Given the description of an element on the screen output the (x, y) to click on. 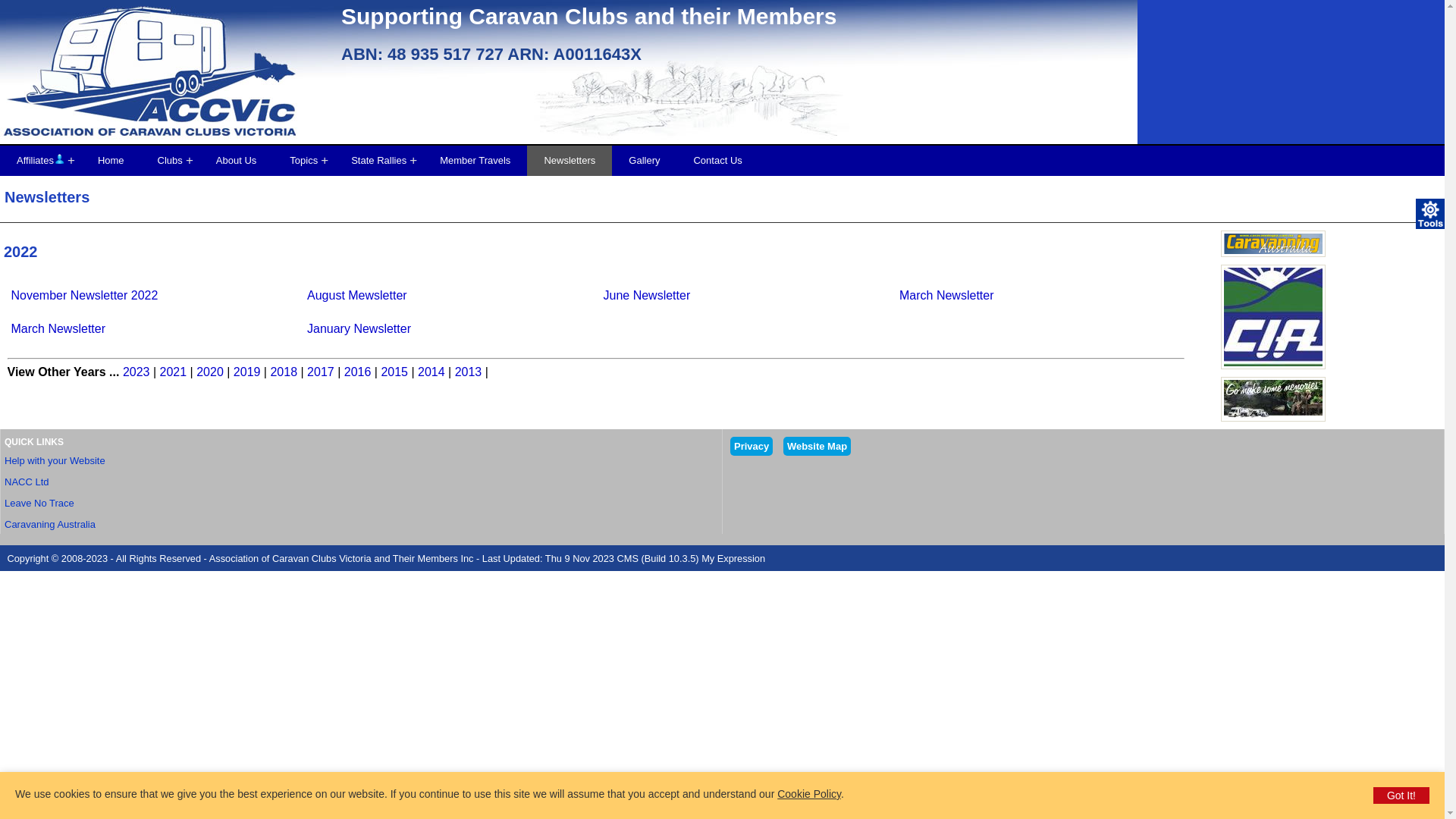
Help with your Website Element type: text (54, 460)
March Newsletter Element type: text (946, 294)
Caravanning Australia Element type: hover (1272, 243)
About Us Element type: text (236, 160)
June Newsletter Element type: text (646, 294)
Cookie Policy Element type: text (808, 793)
Website Map Element type: text (816, 445)
Caravan Industry Association Vic Element type: hover (1272, 316)
Member Travels Element type: text (475, 160)
2020 Element type: text (209, 371)
NACC Ltd Element type: text (26, 481)
Leave No Trace Element type: text (39, 502)
Clubs Element type: text (170, 160)
Login Element type: hover (58, 158)
2018 Element type: text (283, 371)
2016 Element type: text (357, 371)
2019 Element type: text (246, 371)
Affiliates Element type: text (40, 160)
Tools Element type: text (1430, 213)
Home Element type: text (111, 160)
Privacy Element type: text (751, 445)
Contact Us Element type: text (717, 160)
2017 Element type: text (320, 371)
Topics Element type: text (303, 160)
2013 Element type: text (468, 371)
State Rallies Element type: text (378, 160)
2021 Element type: text (173, 371)
March Newsletter Element type: text (58, 328)
Go Make Some Memories Element type: hover (1272, 398)
My Expression Element type: text (733, 558)
2015 Element type: text (393, 371)
November Newsletter 2022 Element type: text (84, 294)
Gallery Element type: text (643, 160)
August Mewsletter Element type: text (357, 294)
Newsletters Element type: text (569, 160)
2014 Element type: text (431, 371)
January Newsletter Element type: text (359, 328)
Caravaning Australia Element type: text (49, 524)
Logo Element type: hover (166, 79)
2023 Element type: text (136, 371)
